Given the description of an element on the screen output the (x, y) to click on. 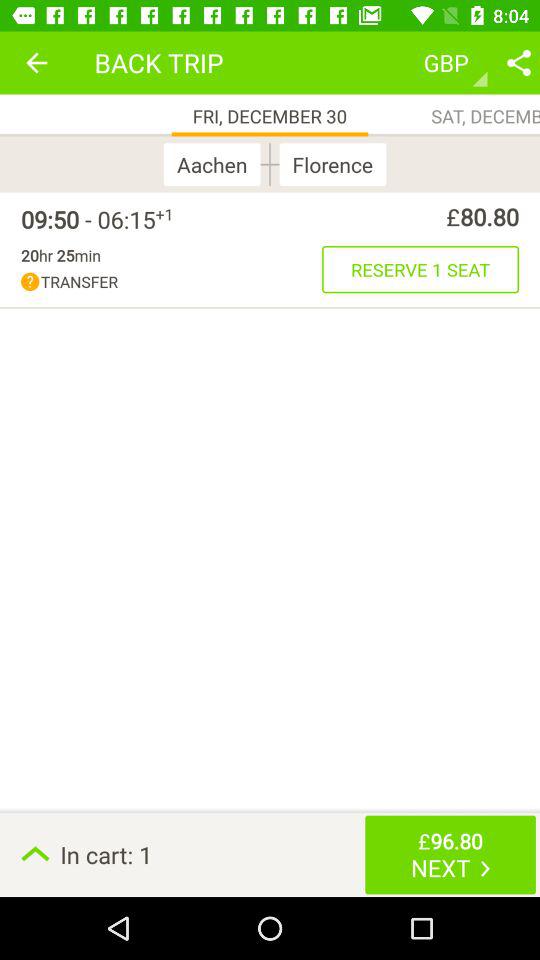
tap the item to the right of gbp icon (518, 62)
